Given the description of an element on the screen output the (x, y) to click on. 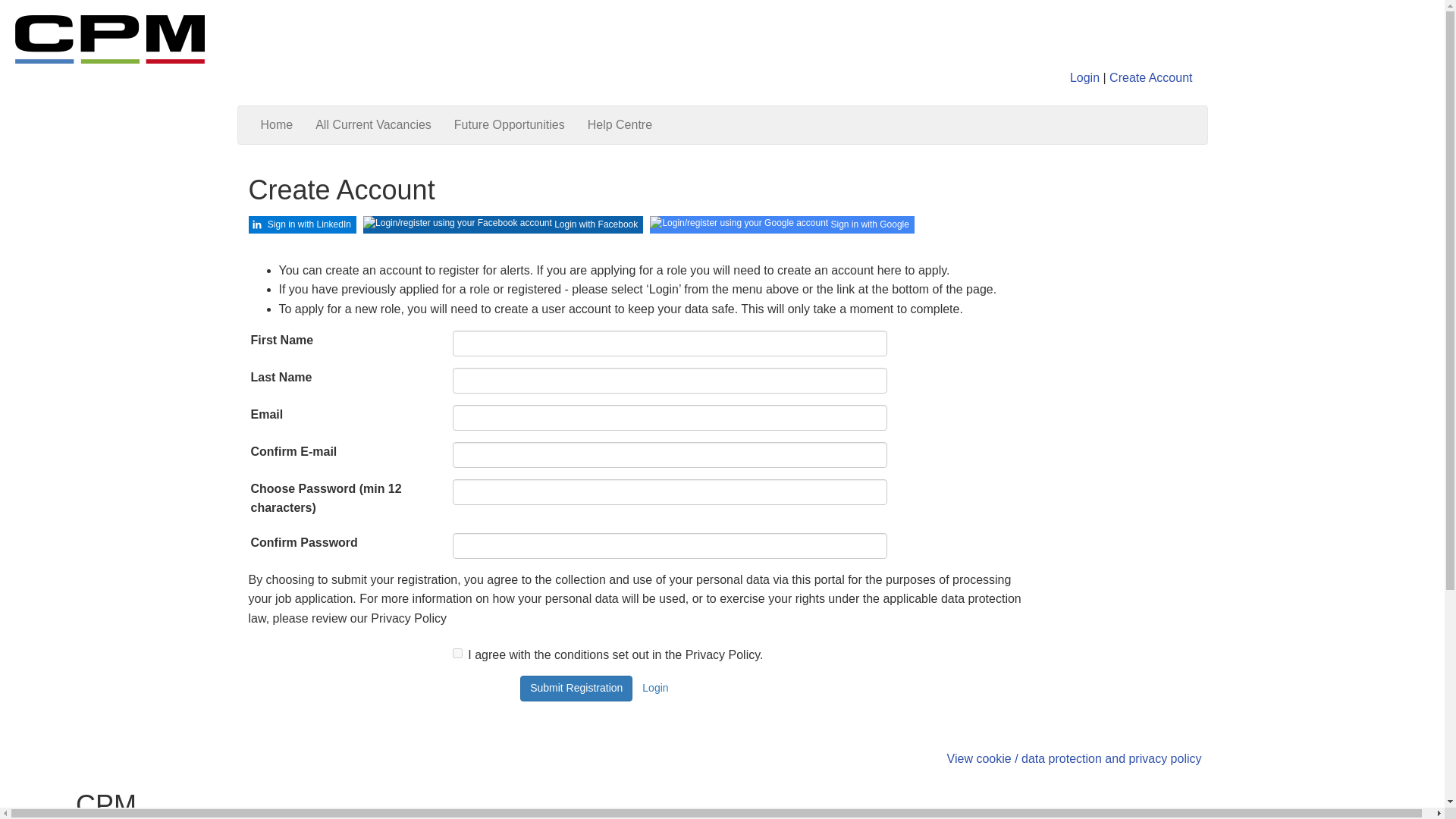
Sign in with Google   (781, 224)
Sign in with LinkedIn   (302, 224)
Future Opportunities (509, 125)
Help Centre (619, 125)
Login (1084, 77)
All Current Vacancies (373, 125)
Home (276, 125)
True (457, 653)
Create Account (1150, 77)
Login with Facebook   (502, 224)
Submit Registration (575, 688)
Login (654, 688)
